Given the description of an element on the screen output the (x, y) to click on. 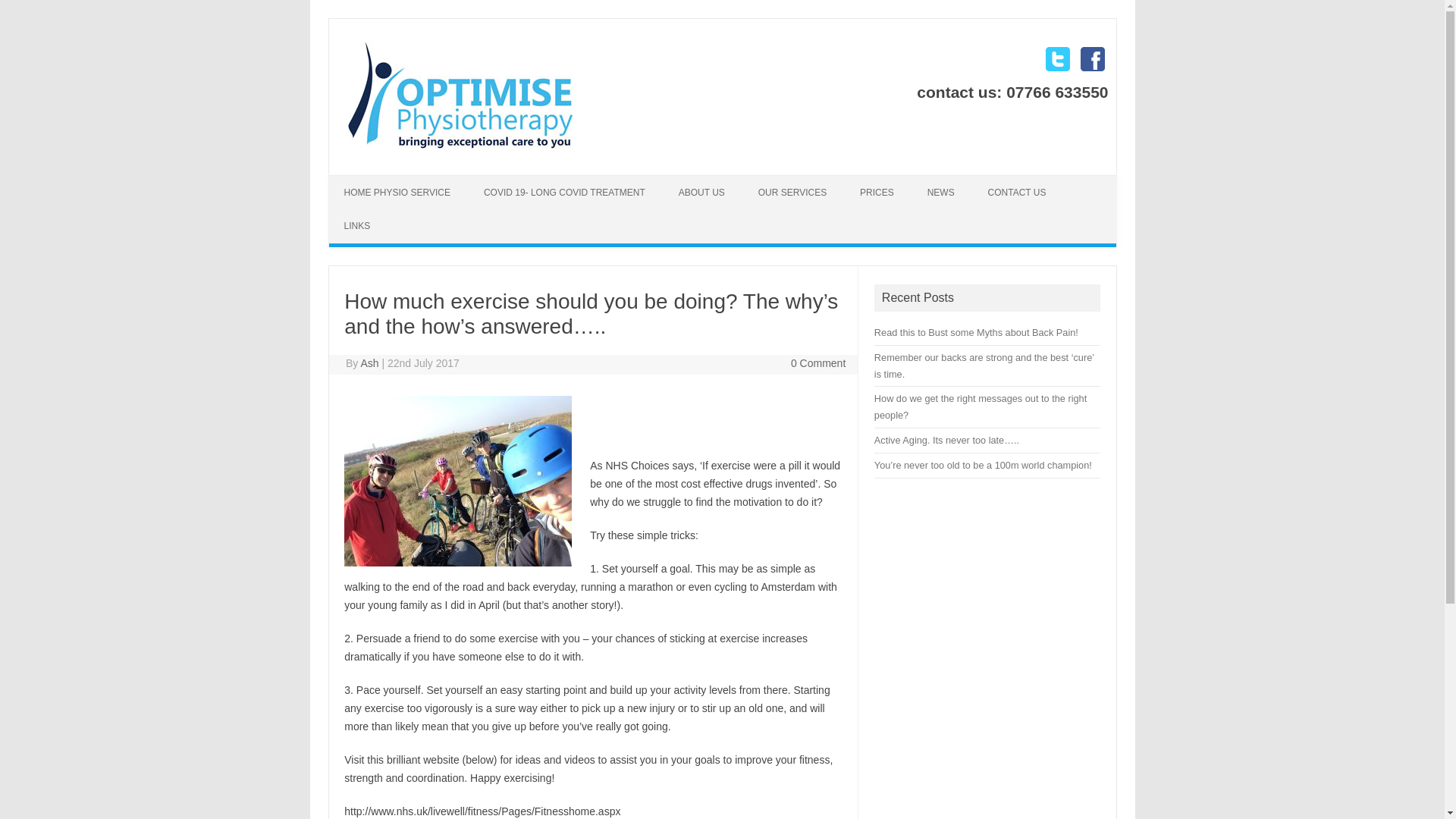
Skip to content (363, 180)
0 Comment (817, 363)
LINKS (357, 225)
OUR SERVICES (791, 192)
ABOUT US (701, 192)
How do we get the right messages out to the right people? (980, 406)
Read this to Bust some Myths about Back Pain! (976, 332)
Skip to content (363, 180)
NEWS (940, 192)
Posts by Ash (368, 363)
